Given the description of an element on the screen output the (x, y) to click on. 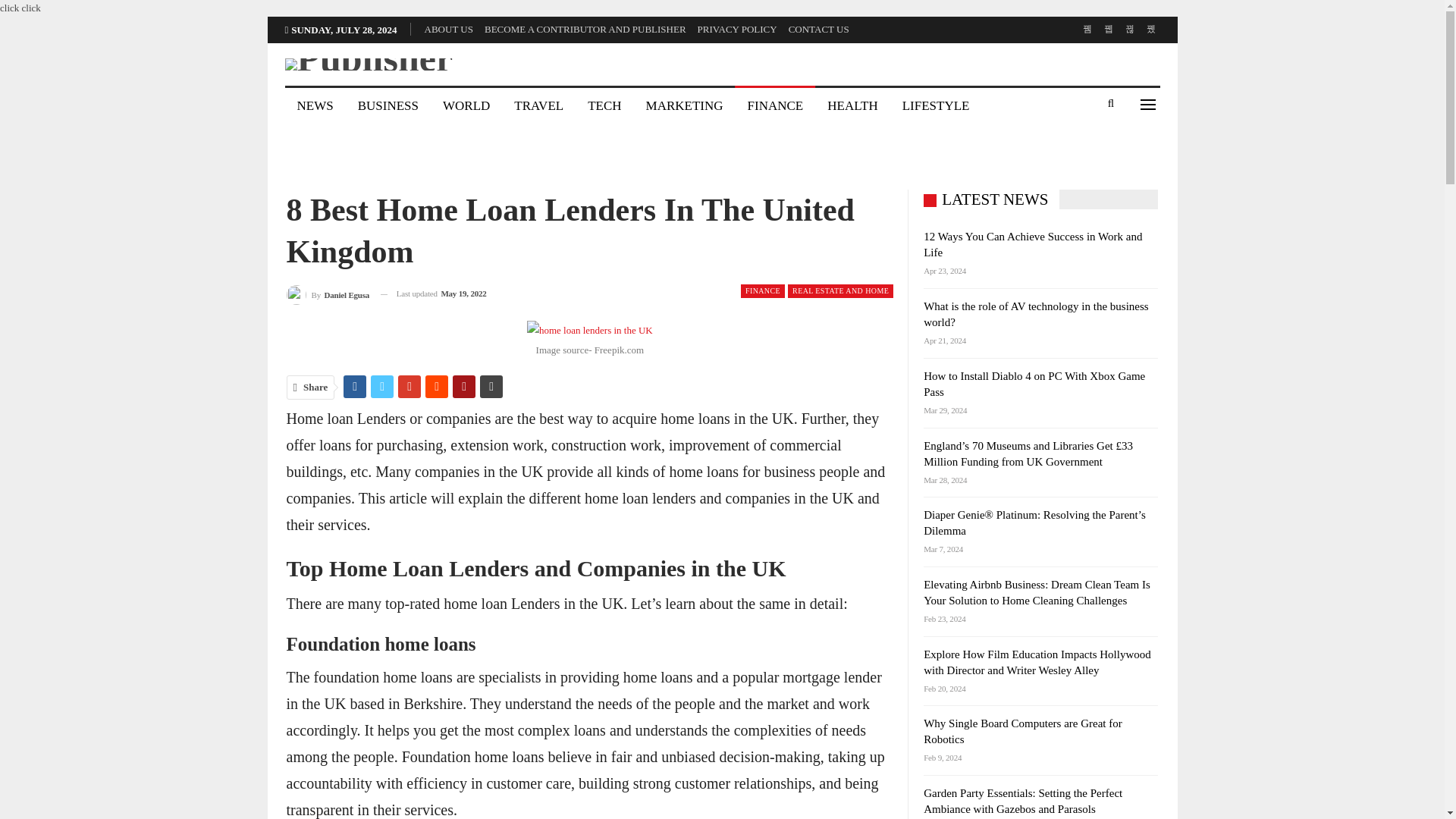
BUSINESS (388, 105)
Browse Author Articles (327, 293)
PRIVACY POLICY (737, 29)
BECOME A CONTRIBUTOR AND PUBLISHER (584, 29)
click (33, 8)
LIFESTYLE (935, 105)
MARKETING (684, 105)
FINANCE (762, 291)
REAL ESTATE AND HOME (840, 291)
TECH (604, 105)
NEWS (315, 105)
HEALTH (852, 105)
click (10, 8)
CONTACT US (818, 29)
ABOUT US (449, 29)
